Given the description of an element on the screen output the (x, y) to click on. 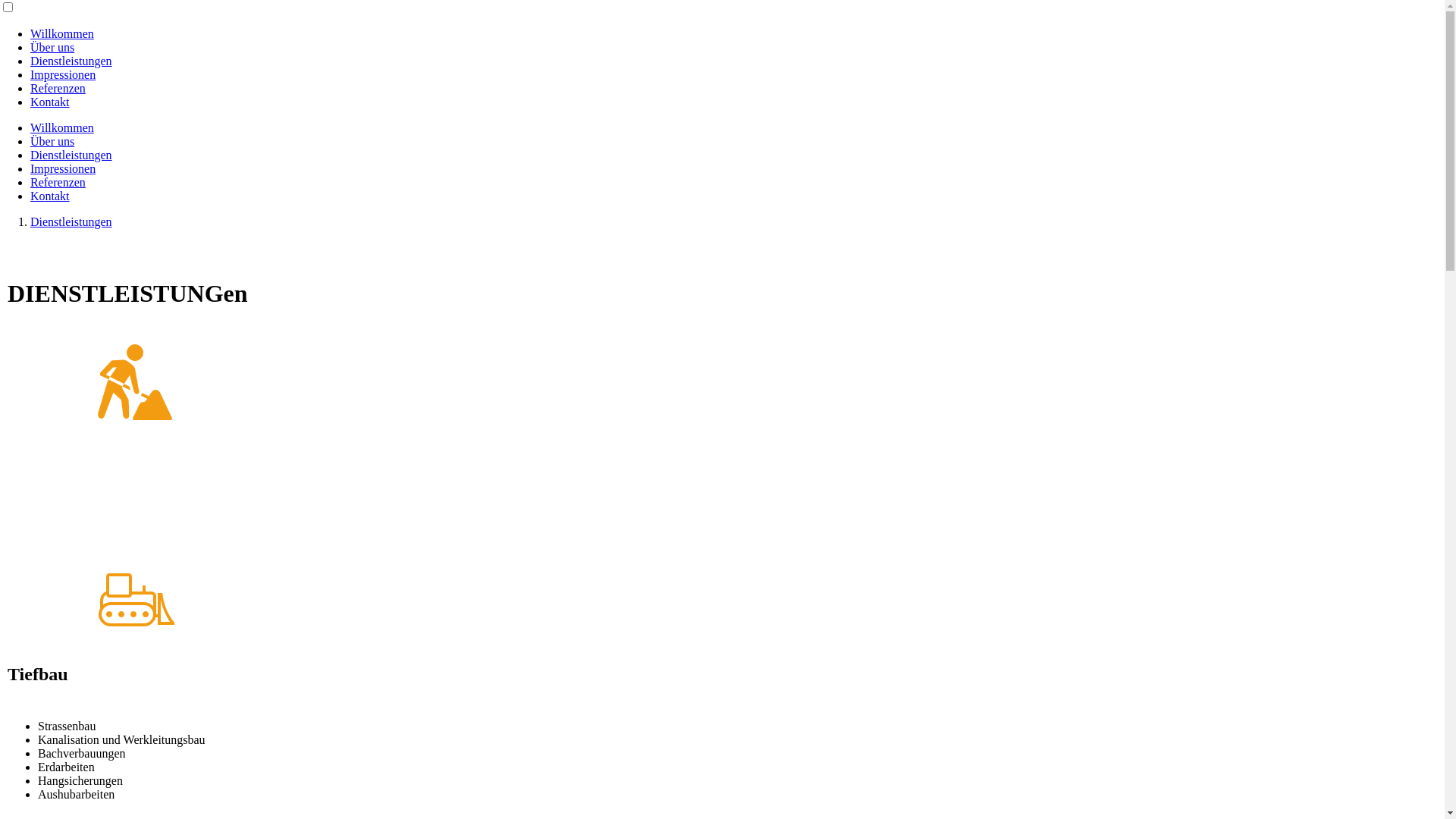
Impressionen Element type: text (62, 168)
Referenzen Element type: text (57, 87)
Impressionen Element type: text (62, 74)
Referenzen Element type: text (57, 181)
Willkommen Element type: text (62, 33)
Kontakt Element type: text (49, 195)
Willkommen Element type: text (62, 127)
Dienstleistungen Element type: text (71, 154)
Kontakt Element type: text (49, 101)
Dienstleistungen Element type: text (71, 60)
Dienstleistungen Element type: text (71, 221)
